Given the description of an element on the screen output the (x, y) to click on. 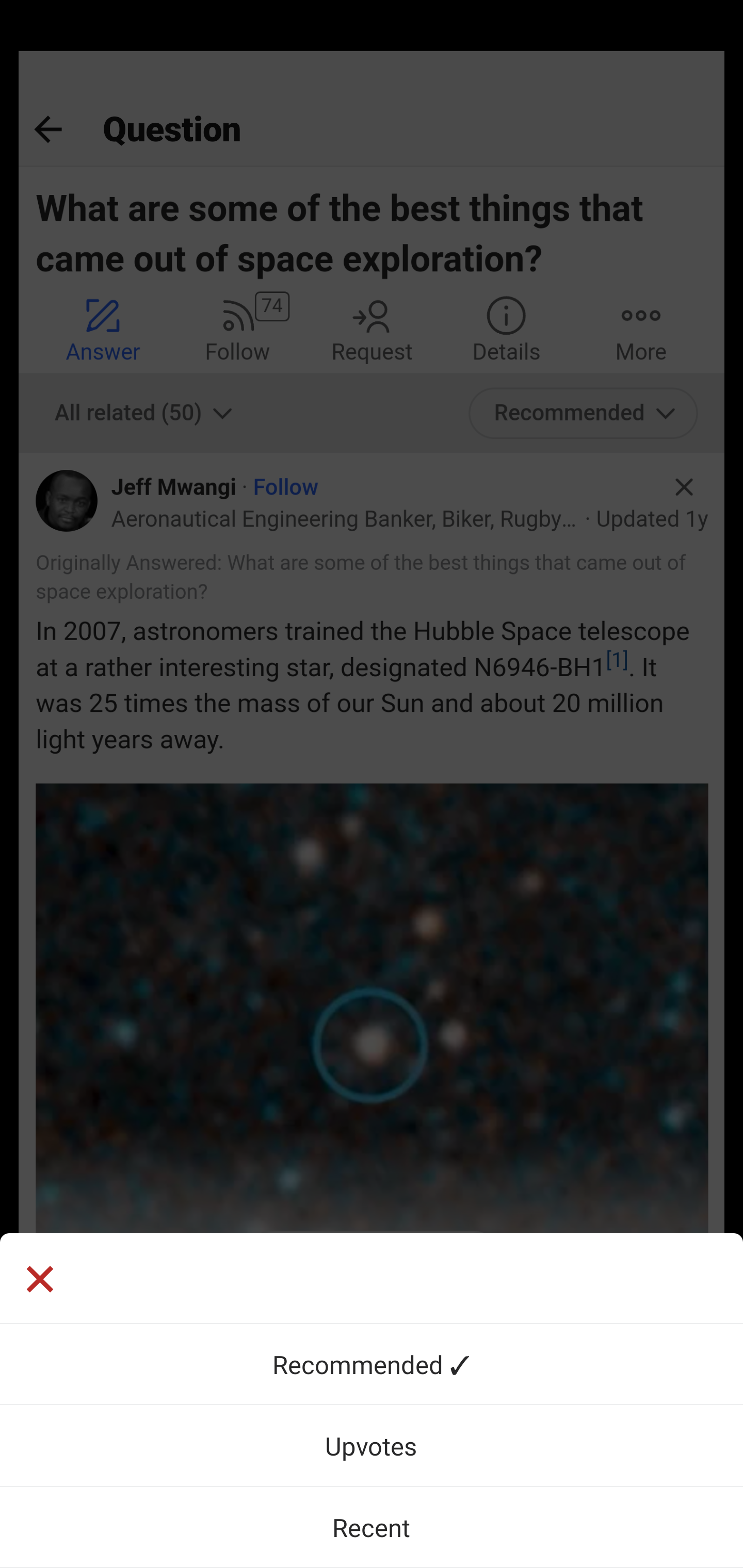
 (39, 1280)
Recommended ✓ (371, 1363)
Upvotes (371, 1445)
Recent (371, 1527)
